Given the description of an element on the screen output the (x, y) to click on. 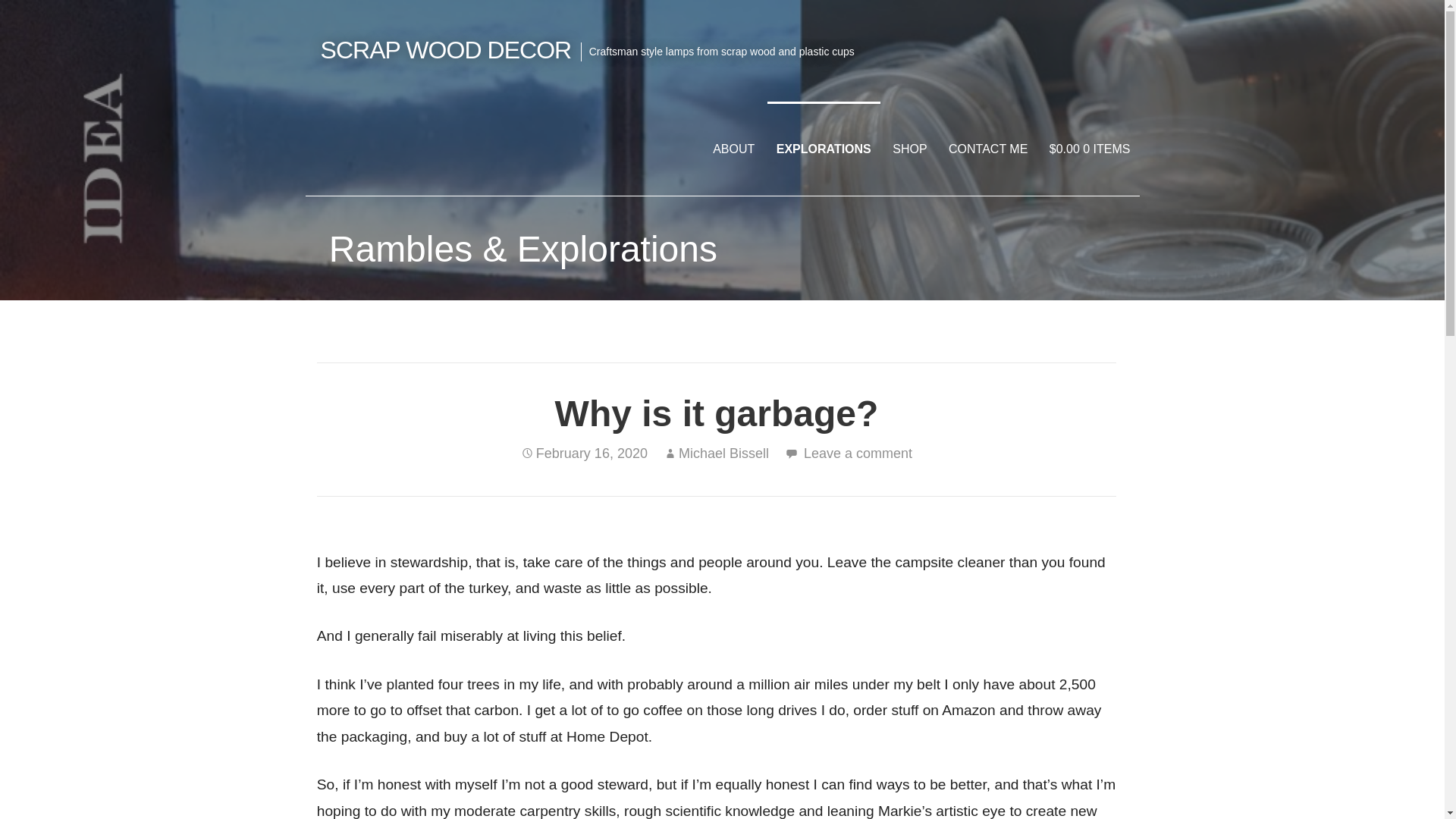
Leave a comment (857, 453)
Posts by Michael Bissell (723, 453)
EXPLORATIONS (823, 148)
Michael Bissell (723, 453)
SCRAP WOOD DECOR (445, 49)
CONTACT ME (987, 148)
